Given the description of an element on the screen output the (x, y) to click on. 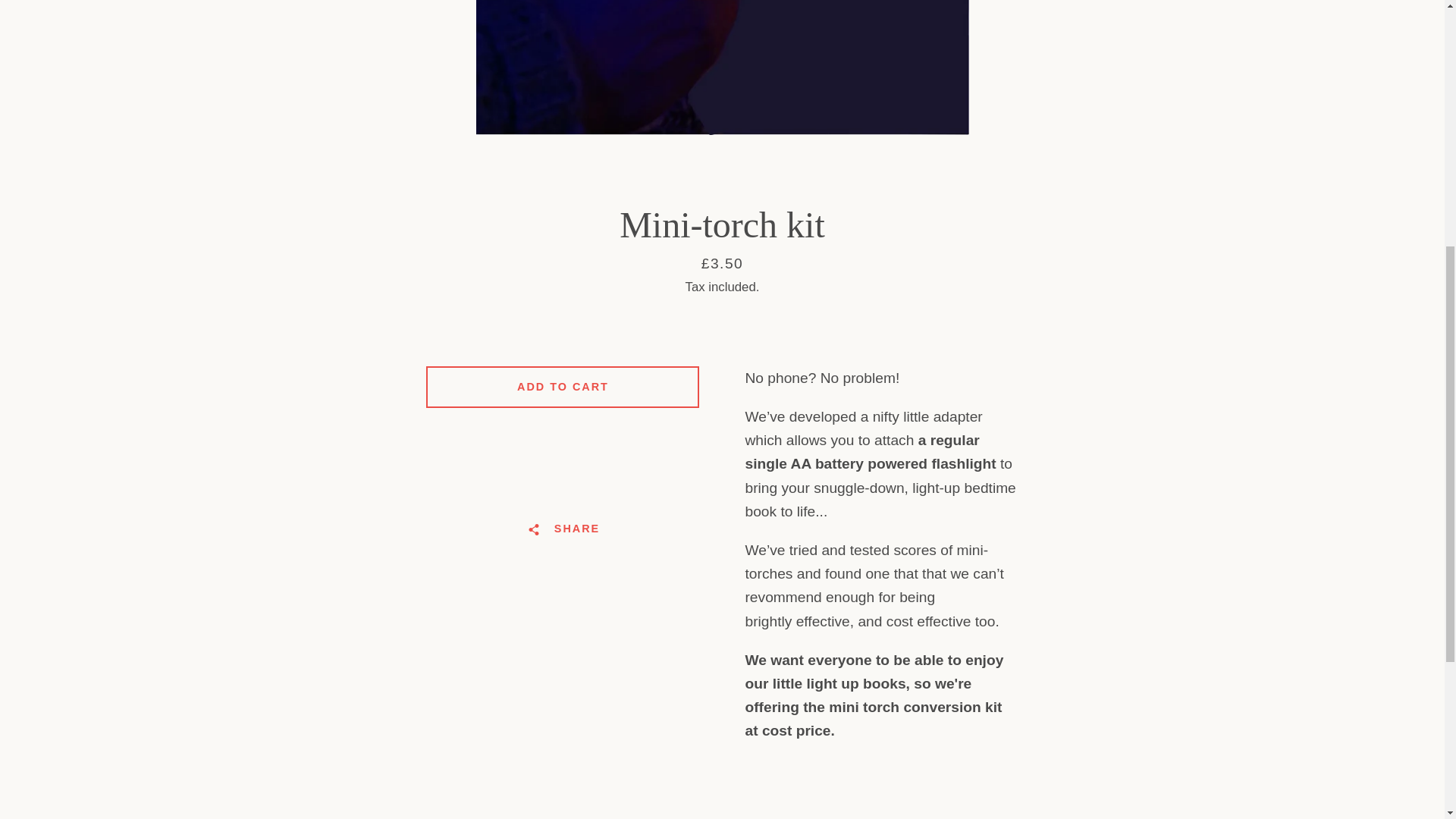
Mastercard (918, 313)
PayPal (953, 313)
SEARCH (397, 110)
Apple Pay (918, 290)
American Express (883, 290)
Diners Club (953, 290)
Maestro (1057, 290)
ADD TO CART (562, 387)
SHARE (562, 529)
Union Pay (1022, 313)
Shop Pay (988, 313)
Powered by Shopify (766, 301)
Google Pay (1022, 290)
Visa (1057, 313)
SUBSCRIBE (1023, 211)
